Given the description of an element on the screen output the (x, y) to click on. 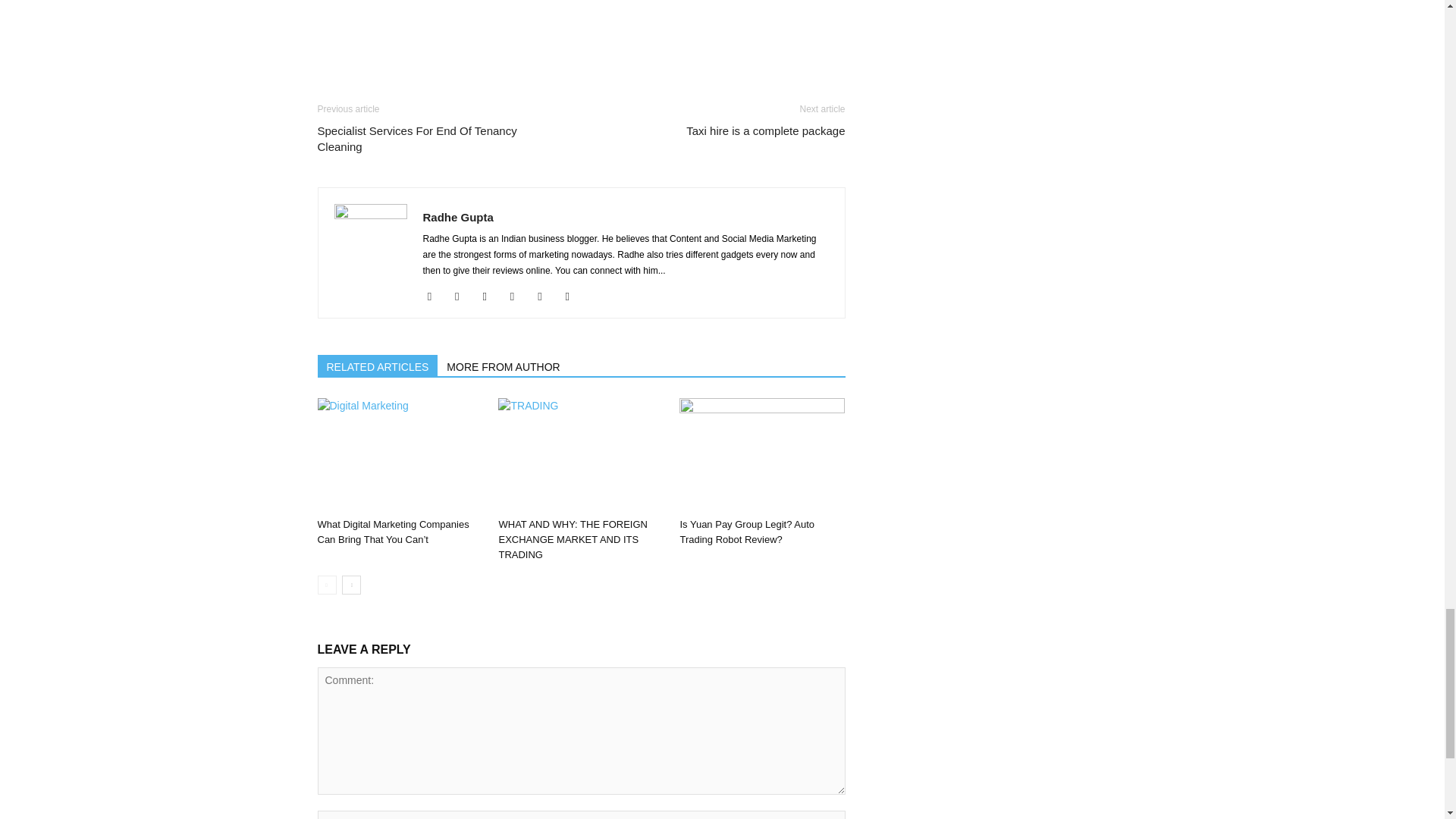
Facebook (435, 296)
Instagram (462, 296)
Twitter (572, 296)
Mail (518, 296)
Linkedin (489, 296)
Reddit (544, 296)
WHAT AND WHY: THE FOREIGN EXCHANGE MARKET AND ITS TRADING (580, 454)
